Given the description of an element on the screen output the (x, y) to click on. 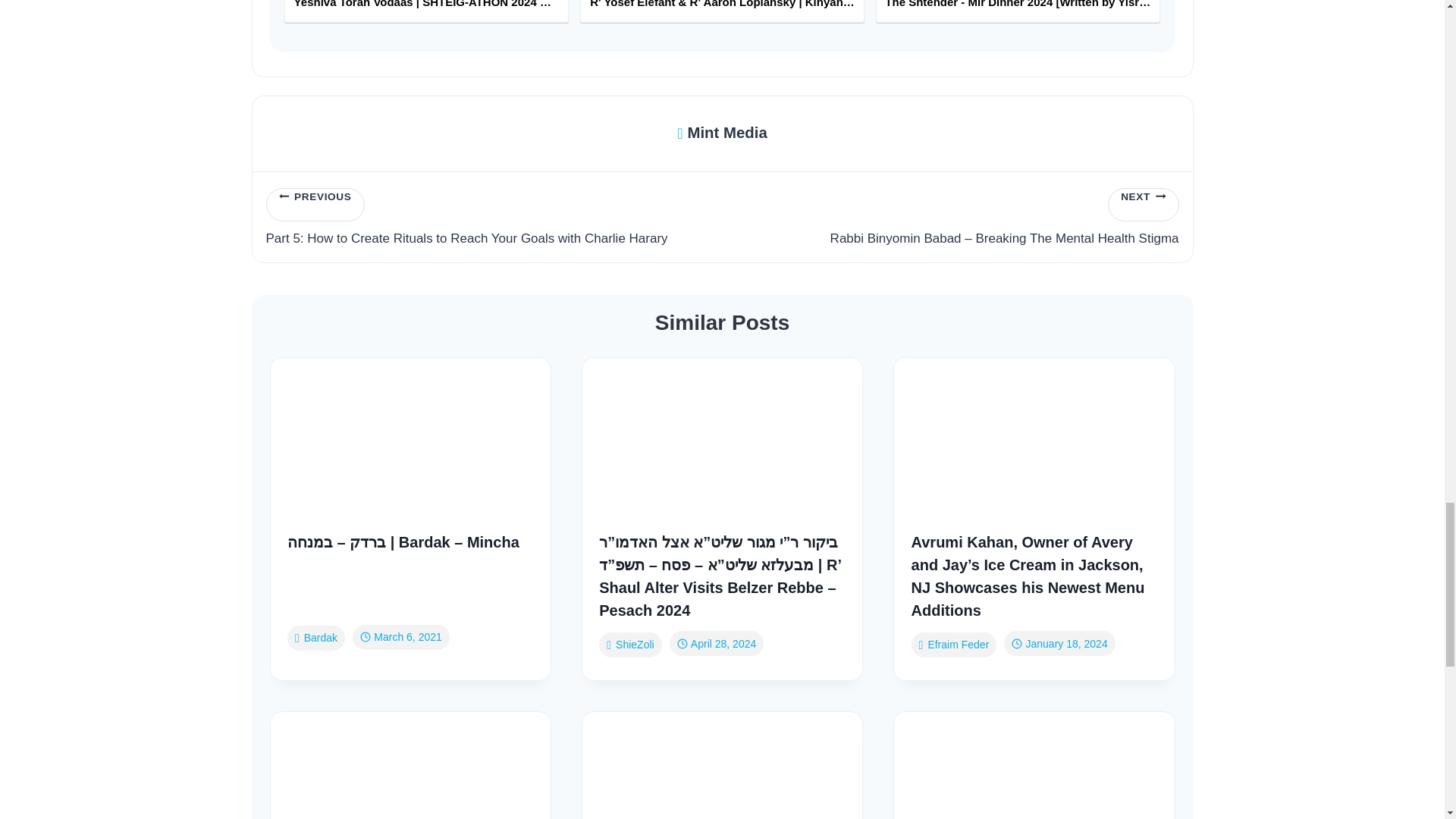
Posts by Mint Media (722, 132)
Bardak (315, 637)
Mint Media (722, 132)
